Given the description of an element on the screen output the (x, y) to click on. 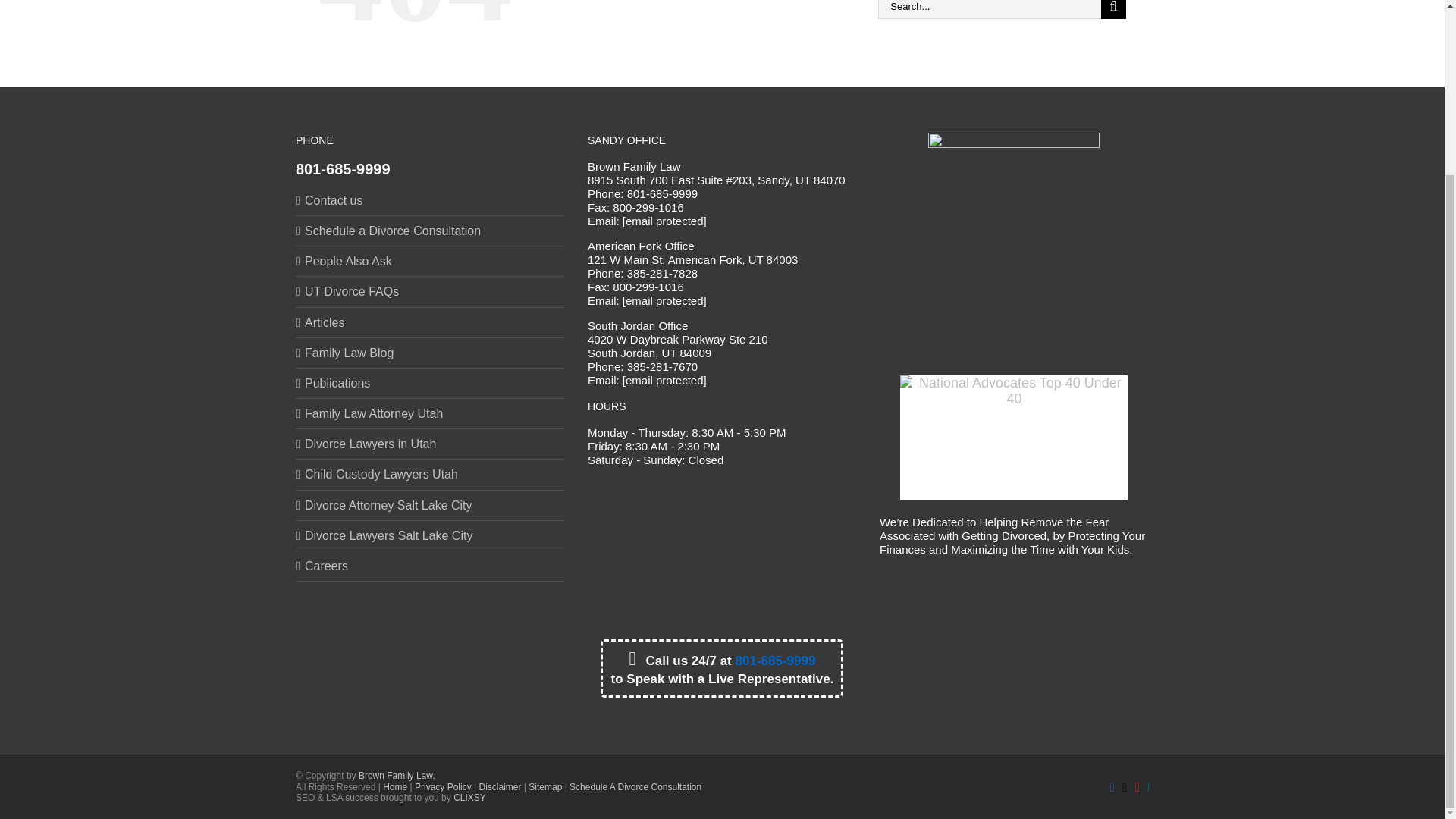
Family Law Attorney Utah (430, 413)
Divorce Lawyers Salt Lake City (430, 535)
Schedule a Divorce Consultation (430, 230)
Divorce Lawyers in Utah (430, 443)
801-685-9999 (342, 168)
People Also Ask (430, 260)
Family Law Blog (430, 352)
Contact us (430, 200)
Articles (430, 322)
Careers (430, 565)
